Given the description of an element on the screen output the (x, y) to click on. 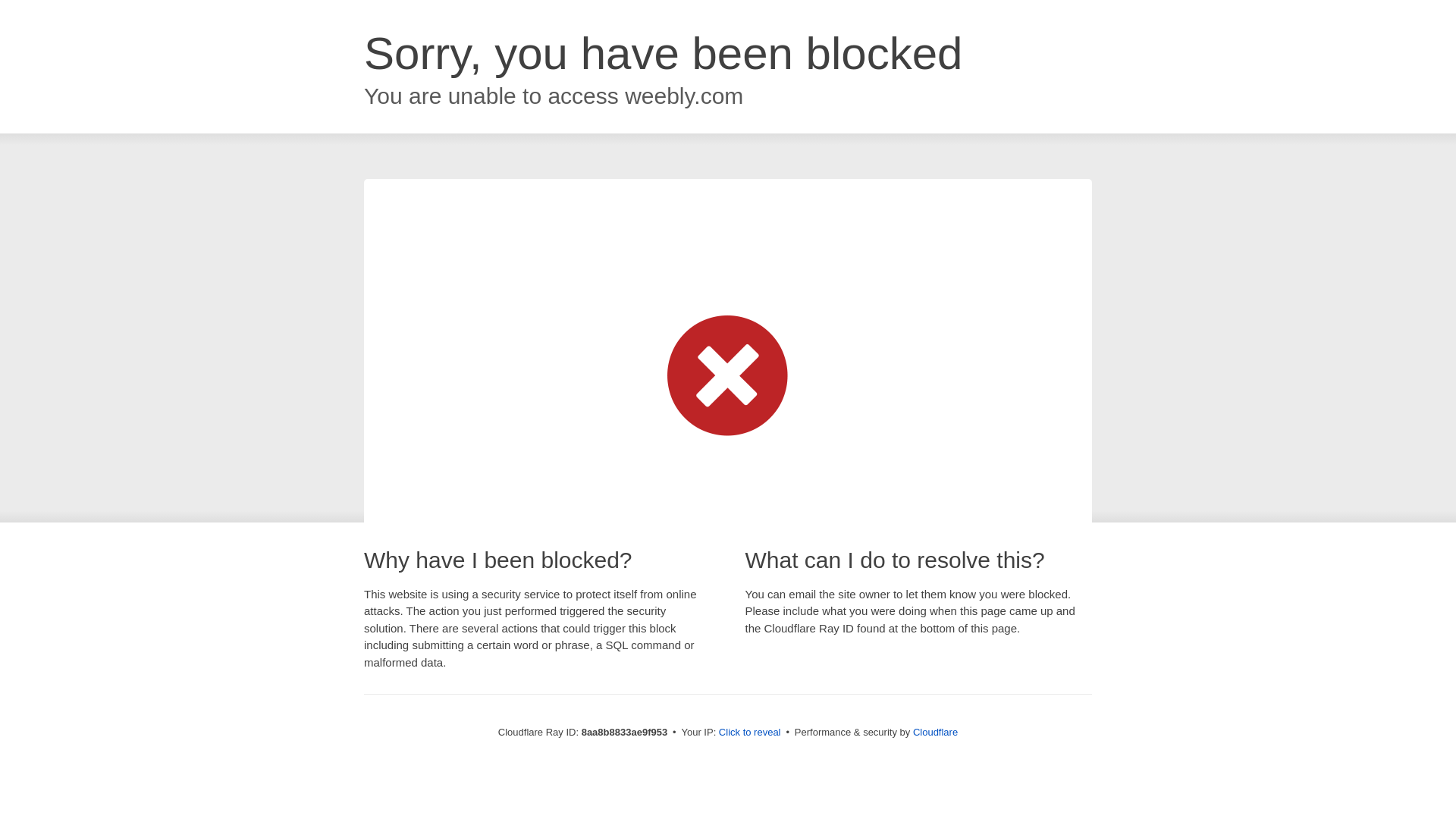
Click to reveal (749, 732)
Cloudflare (935, 731)
